Given the description of an element on the screen output the (x, y) to click on. 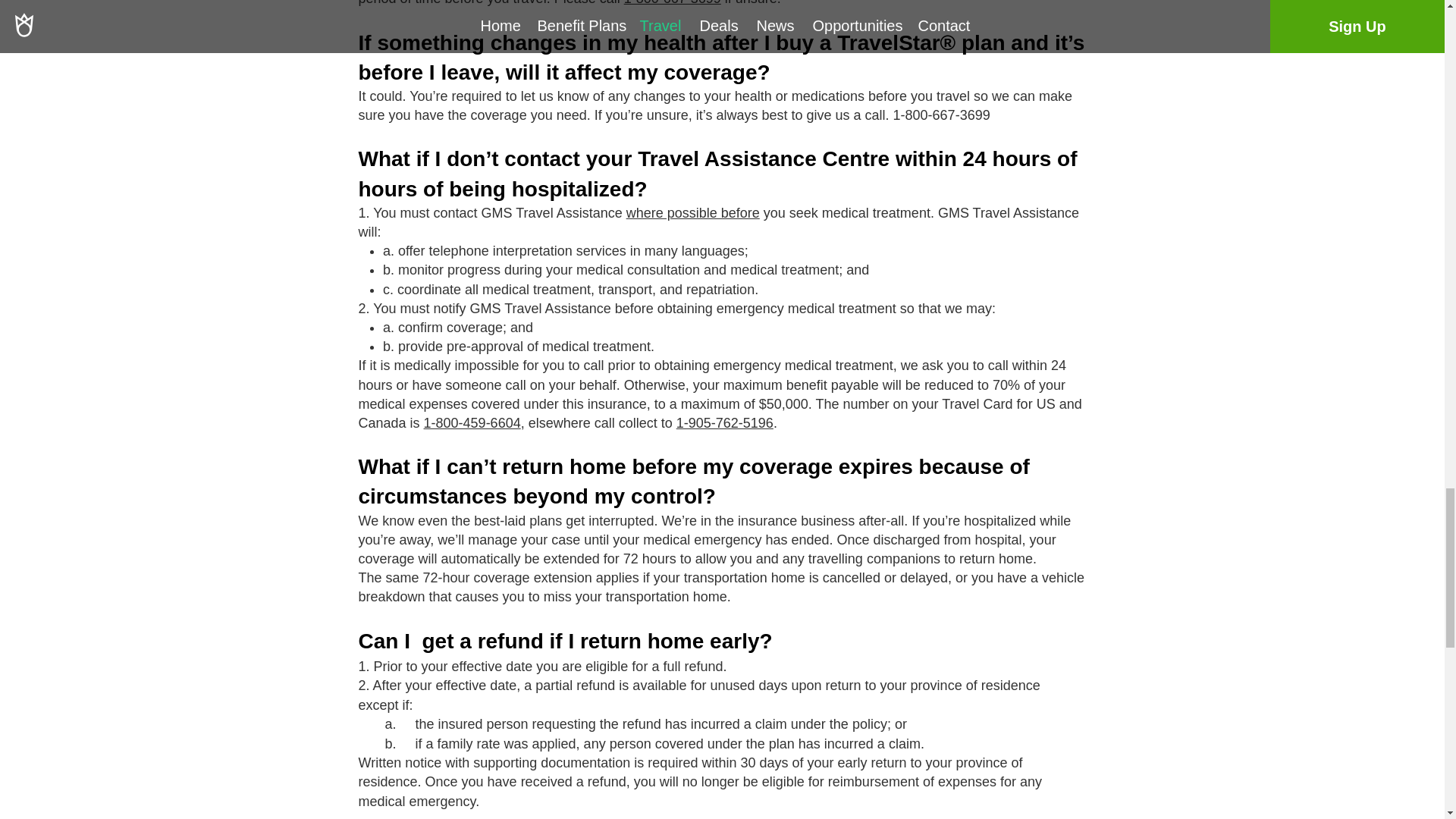
1-800-667-3699 (672, 2)
1-905-762-5196 (725, 422)
1-800-459-6604 (472, 422)
